Given the description of an element on the screen output the (x, y) to click on. 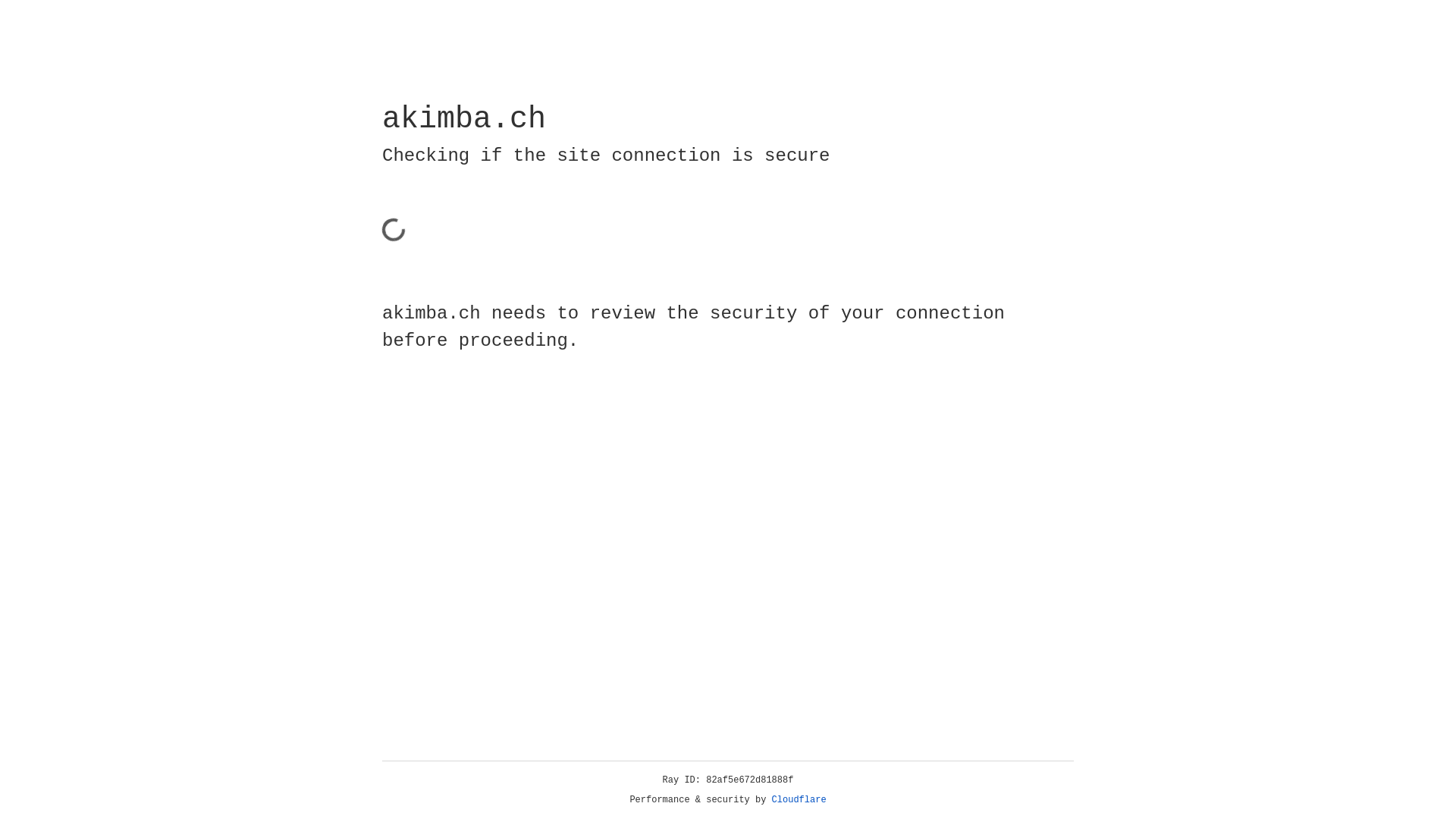
Cloudflare Element type: text (798, 799)
